Given the description of an element on the screen output the (x, y) to click on. 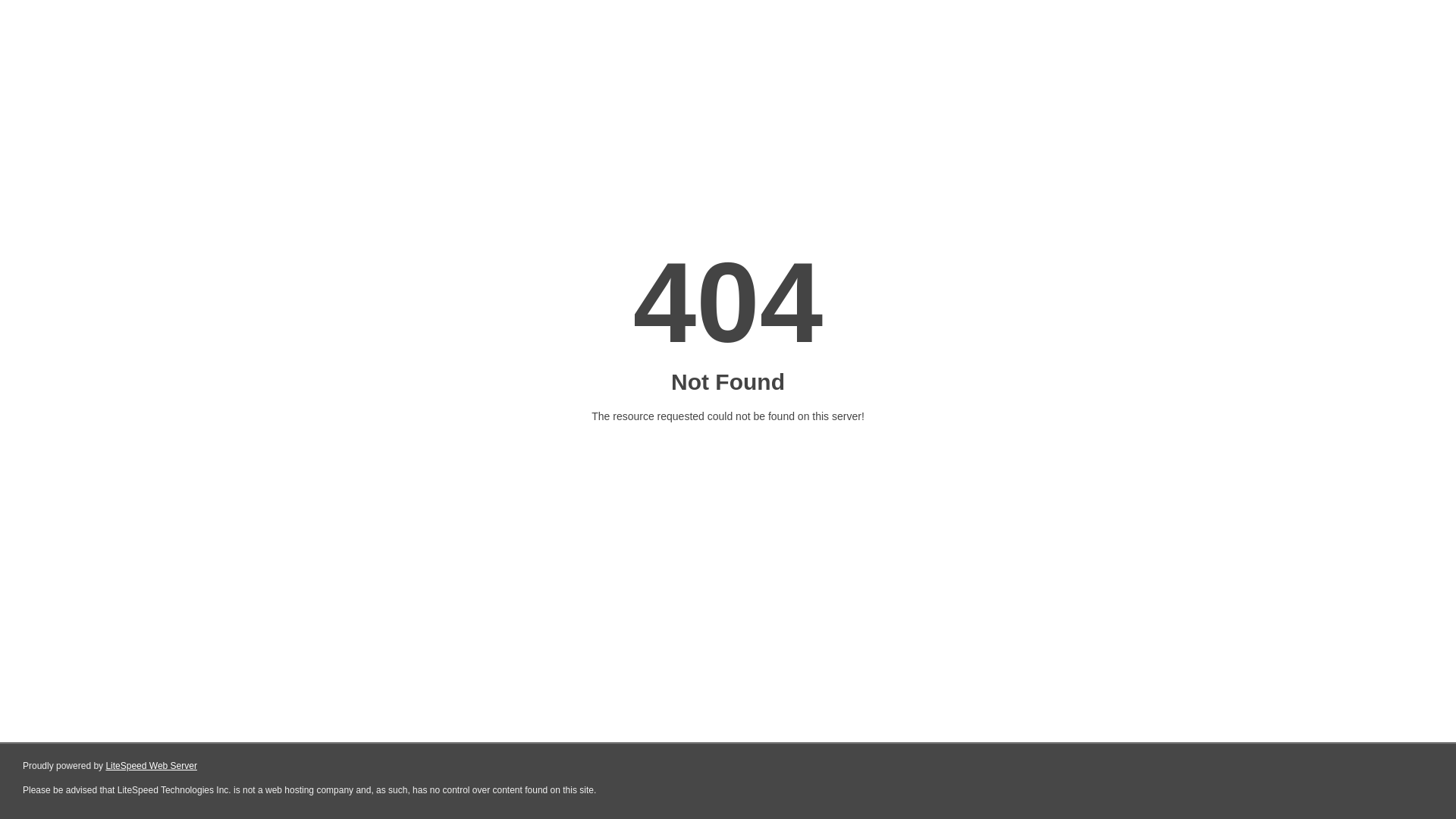
LiteSpeed Web Server Element type: text (151, 765)
